Given the description of an element on the screen output the (x, y) to click on. 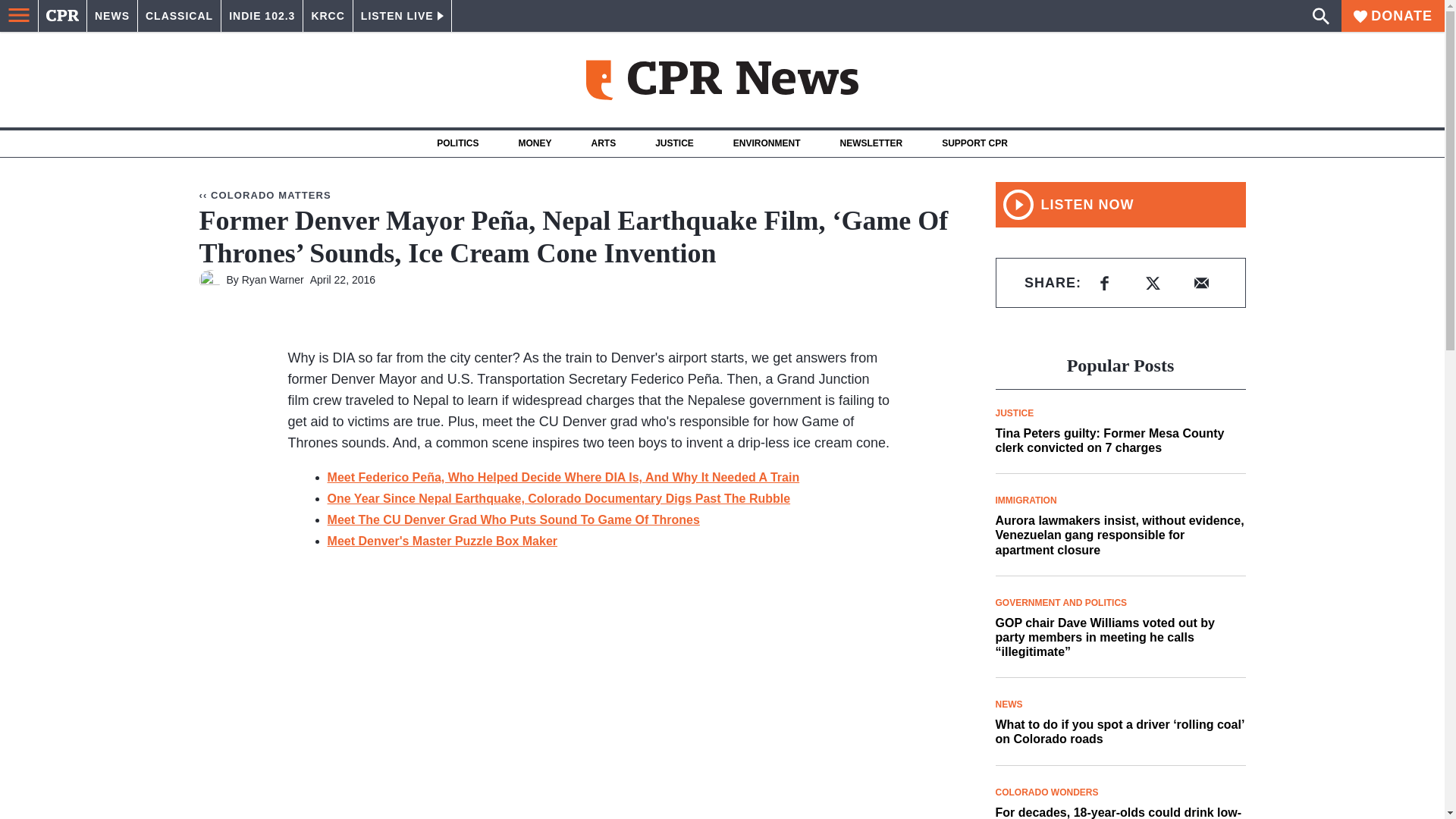
CLASSICAL (179, 15)
INDIE 102.3 (261, 15)
NEWS (111, 15)
KRCC (327, 15)
LISTEN LIVE (402, 15)
